Given the description of an element on the screen output the (x, y) to click on. 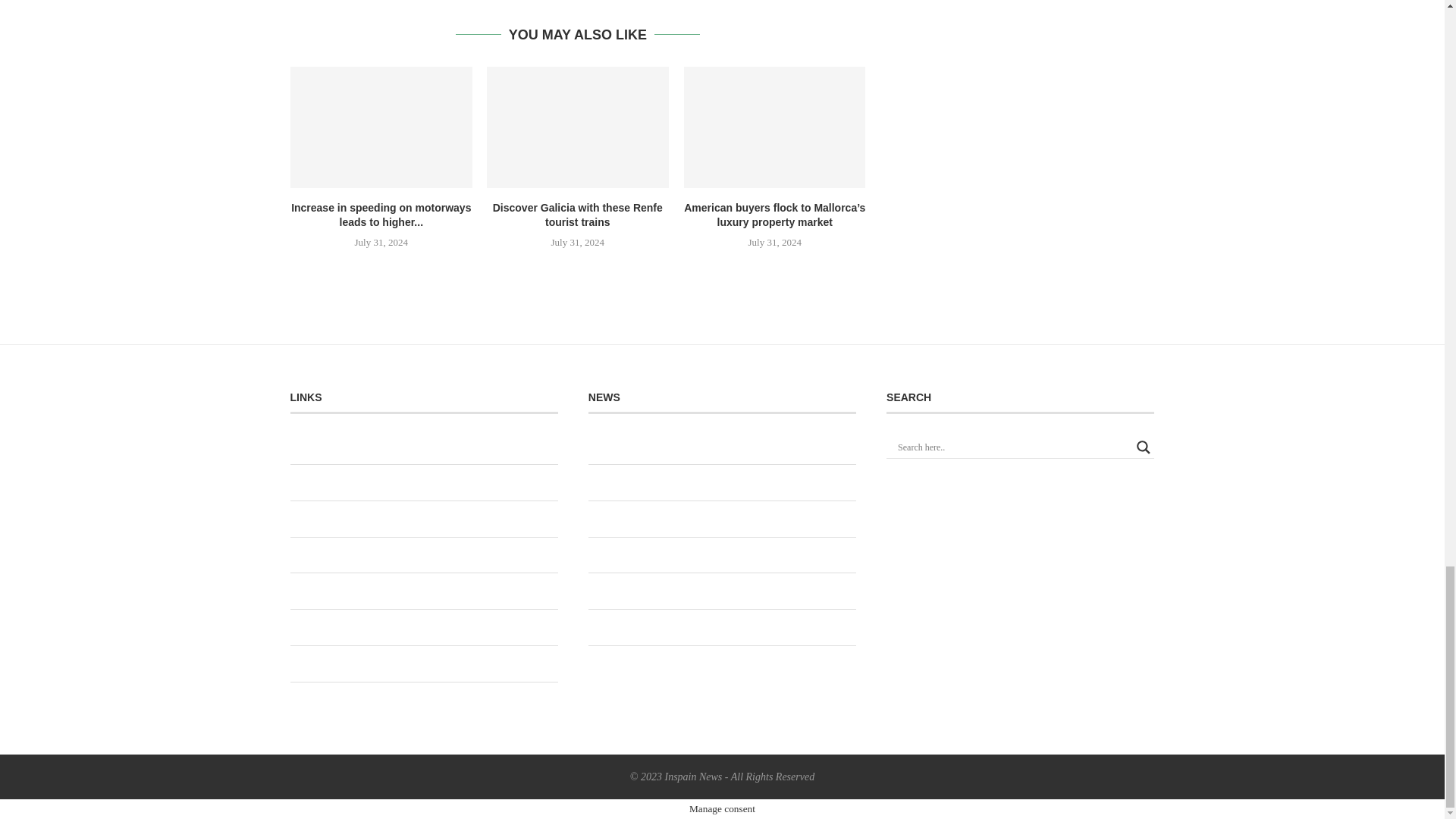
Discover Galicia with these Renfe tourist trains (577, 127)
